Given the description of an element on the screen output the (x, y) to click on. 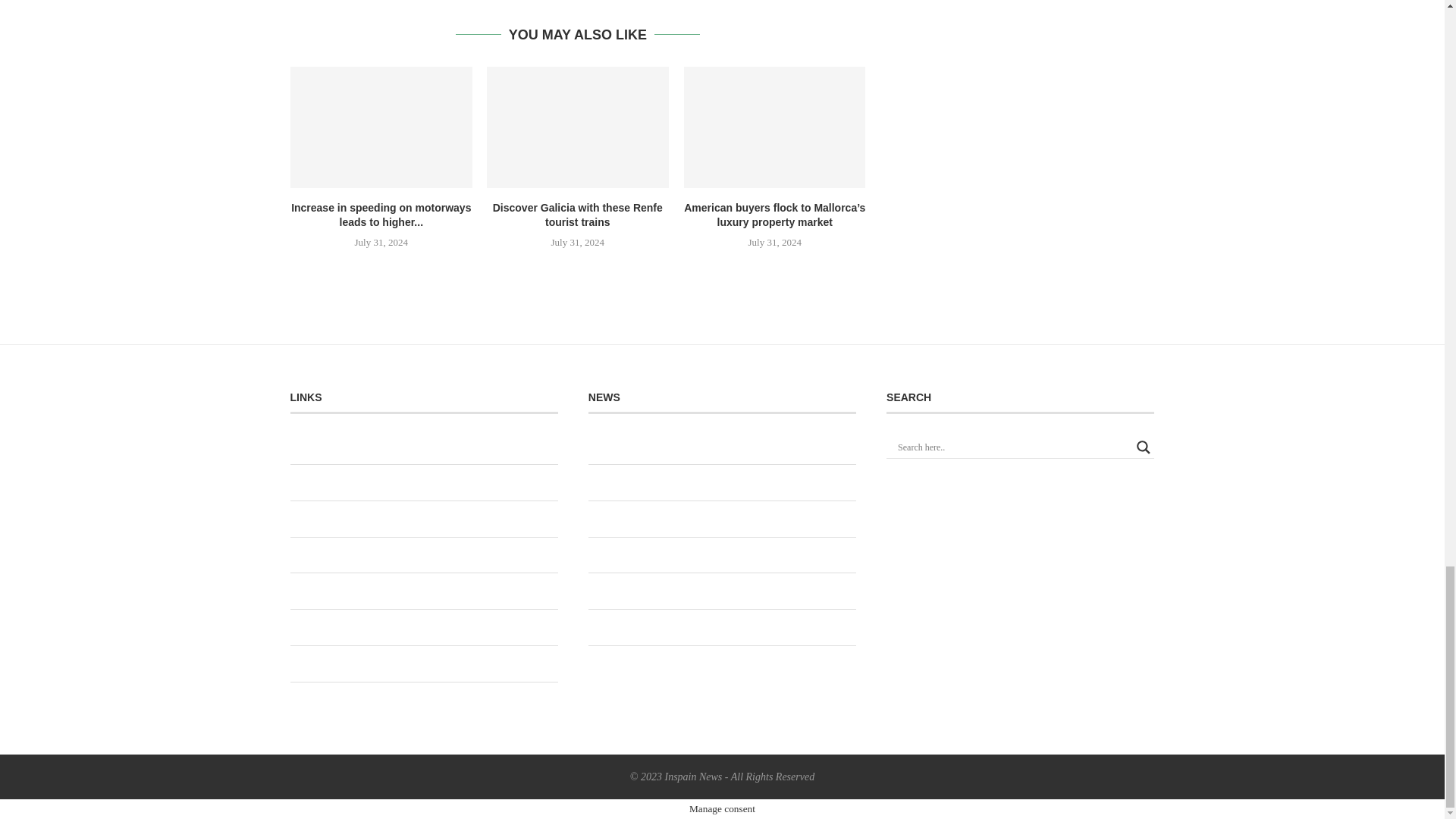
Discover Galicia with these Renfe tourist trains (577, 127)
